Given the description of an element on the screen output the (x, y) to click on. 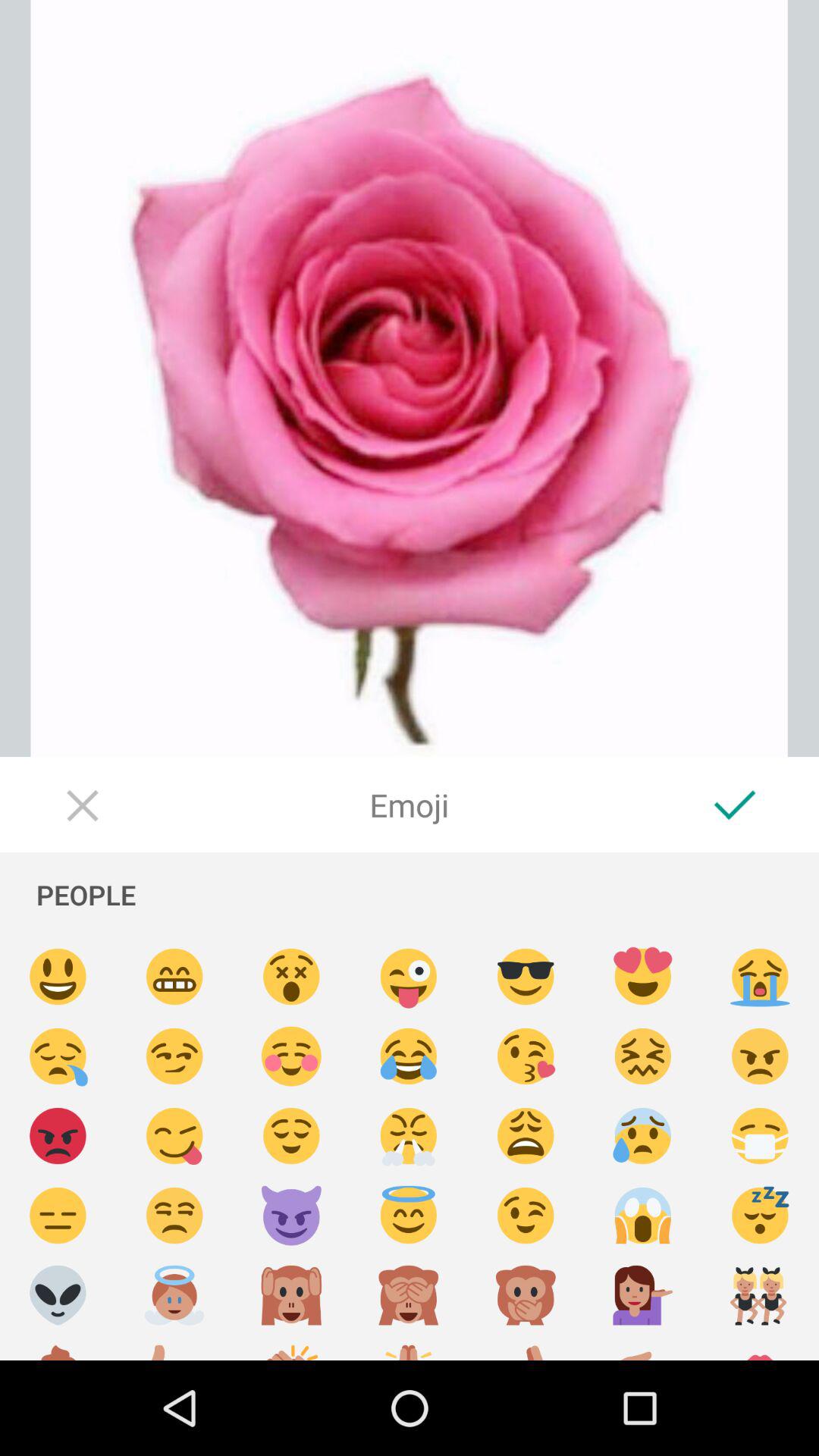
disappointing emoji (58, 1215)
